Given the description of an element on the screen output the (x, y) to click on. 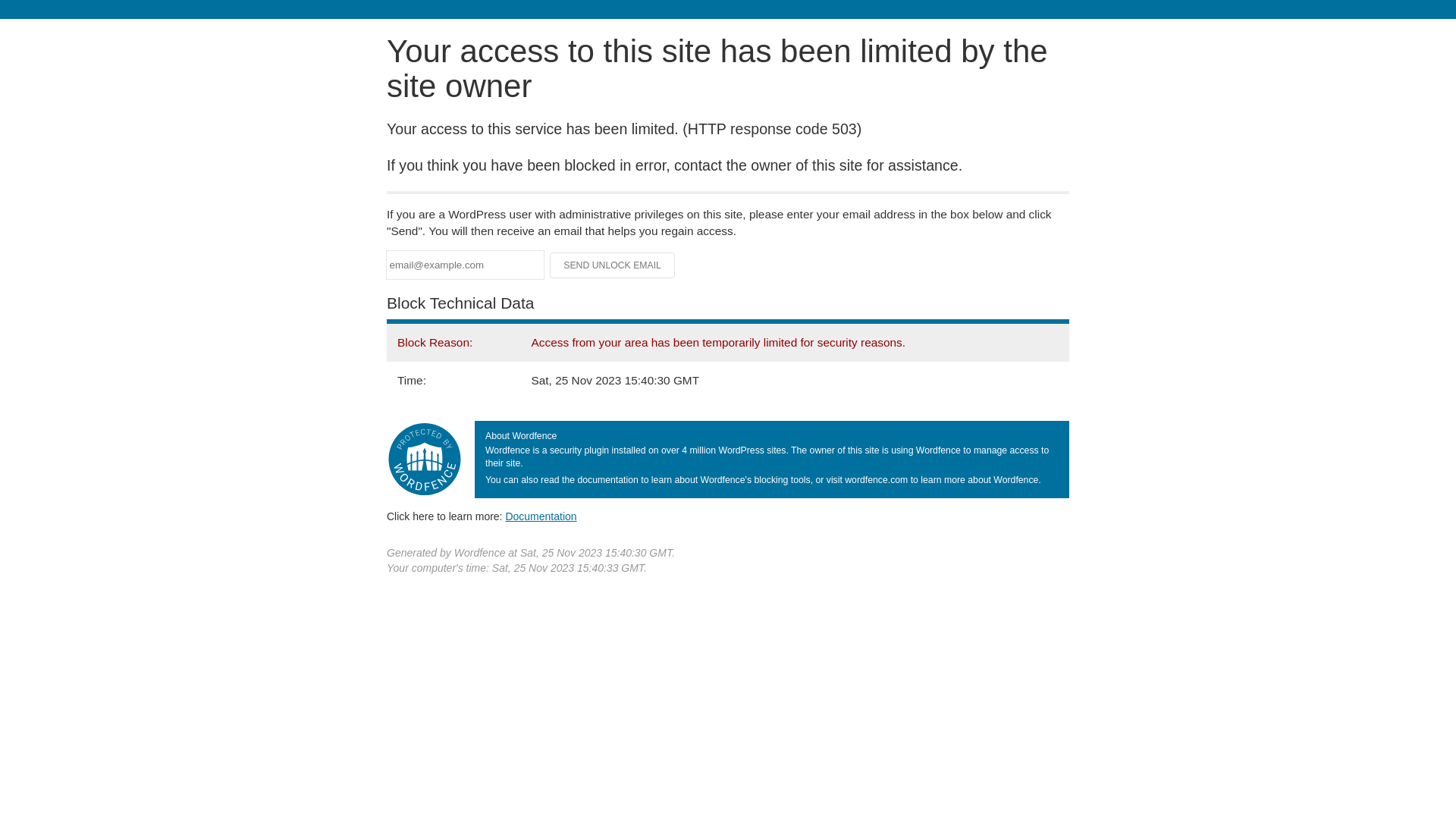
Send Unlock Email Element type: text (612, 265)
Documentation Element type: text (540, 516)
